Given the description of an element on the screen output the (x, y) to click on. 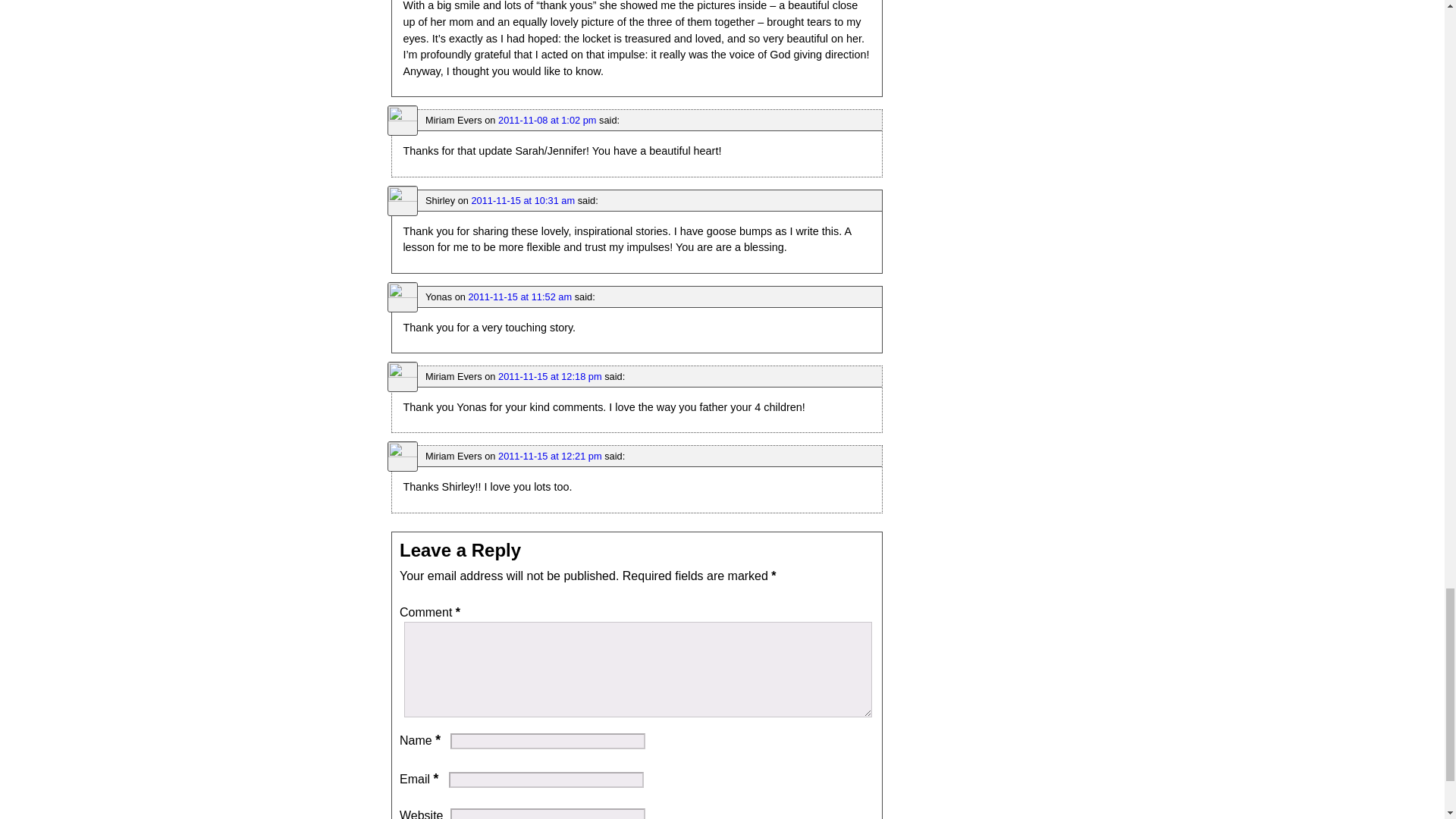
2011-11-15 at 10:31 am (522, 200)
2011-11-08 at 1:02 pm (546, 120)
2011-11-15 at 11:52 am (519, 296)
